Given the description of an element on the screen output the (x, y) to click on. 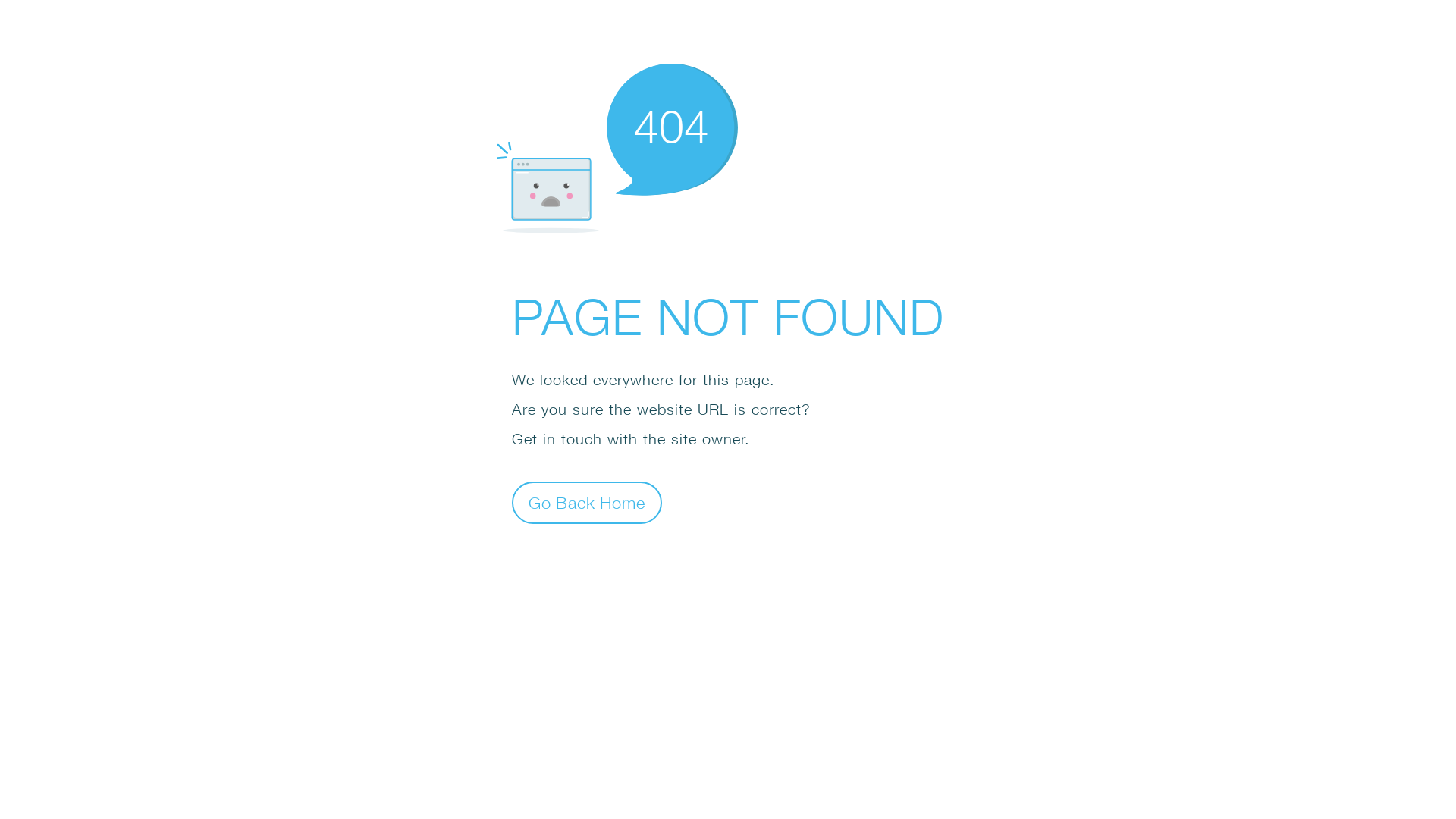
Go Back Home Element type: text (586, 502)
